Given the description of an element on the screen output the (x, y) to click on. 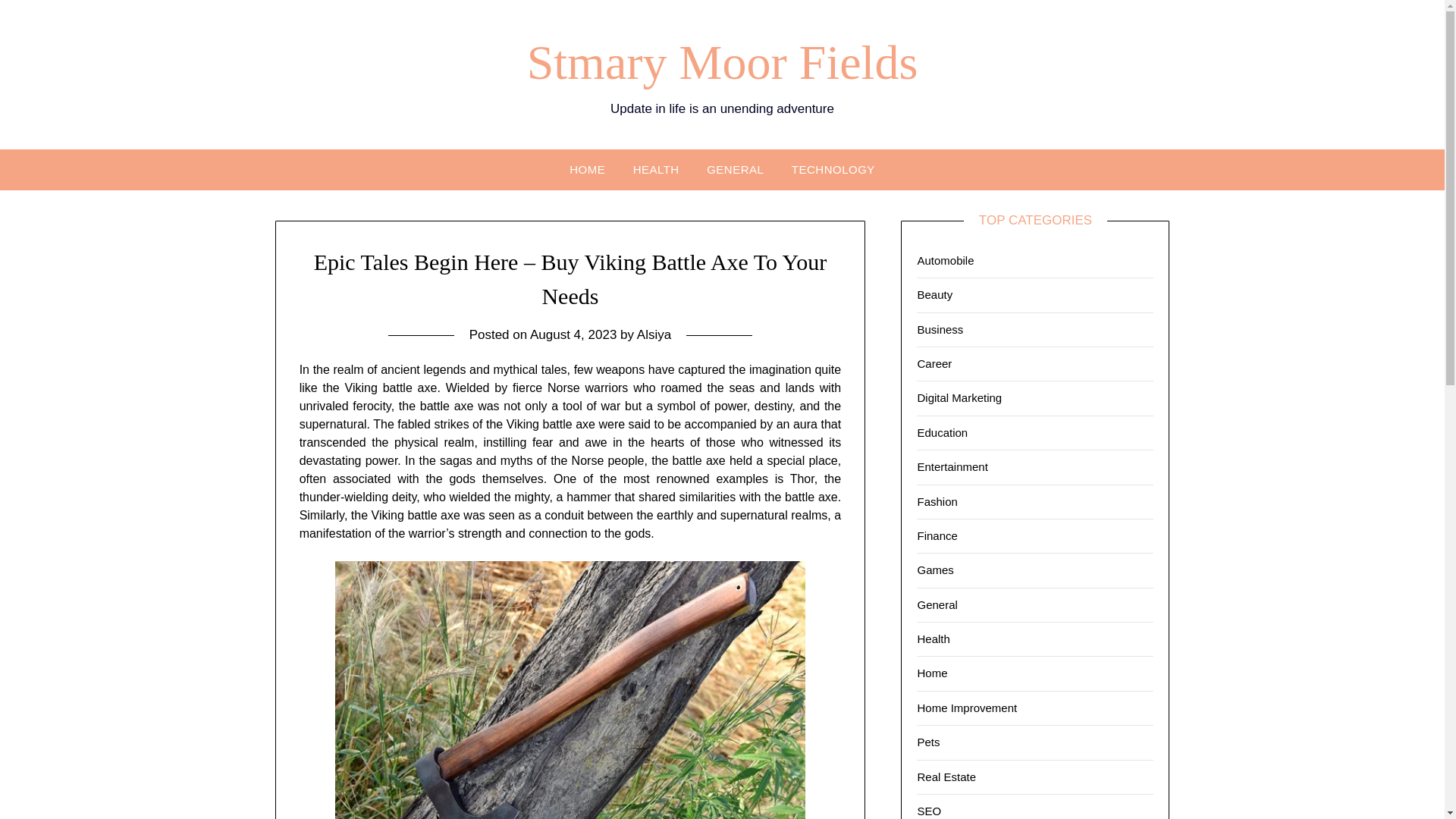
Pets (928, 741)
Finance (936, 535)
SEO (928, 810)
Stmary Moor Fields (722, 62)
Health (933, 638)
Games (935, 569)
August 4, 2023 (572, 334)
General (936, 604)
HEALTH (656, 168)
Business (939, 328)
